Given the description of an element on the screen output the (x, y) to click on. 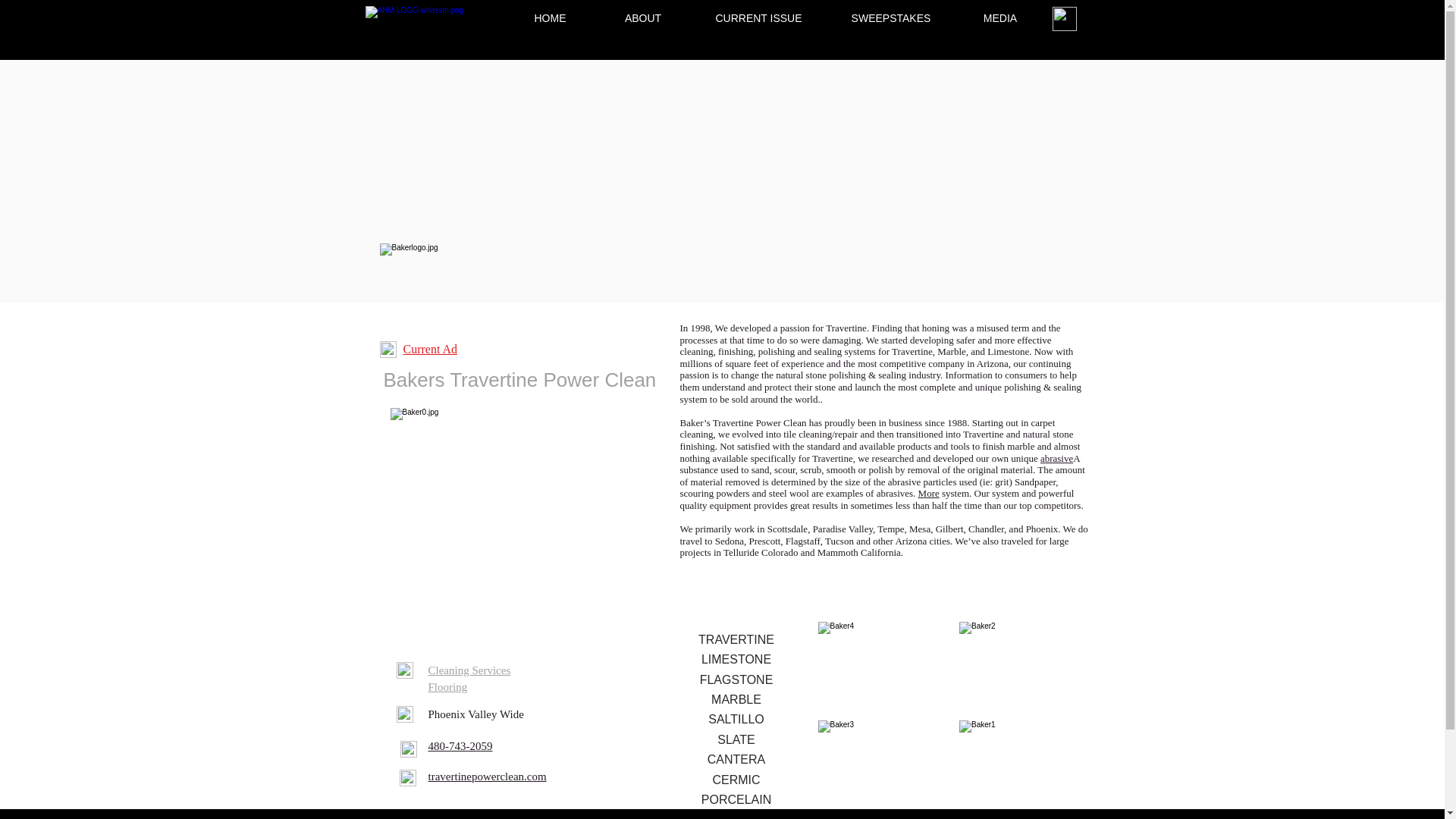
Current Ad (430, 349)
MEDIA (1000, 18)
PHNg.png (408, 749)
pages.png (387, 349)
ABOUT (642, 18)
480-743-2059 (460, 745)
home.png (404, 669)
abrasive (1057, 458)
Flooring (447, 686)
More (928, 492)
HOME (550, 18)
Cleaning Services (469, 670)
SWEEPSTAKES (891, 18)
locationG.png (404, 713)
travertinepowerclean.com (487, 776)
